Given the description of an element on the screen output the (x, y) to click on. 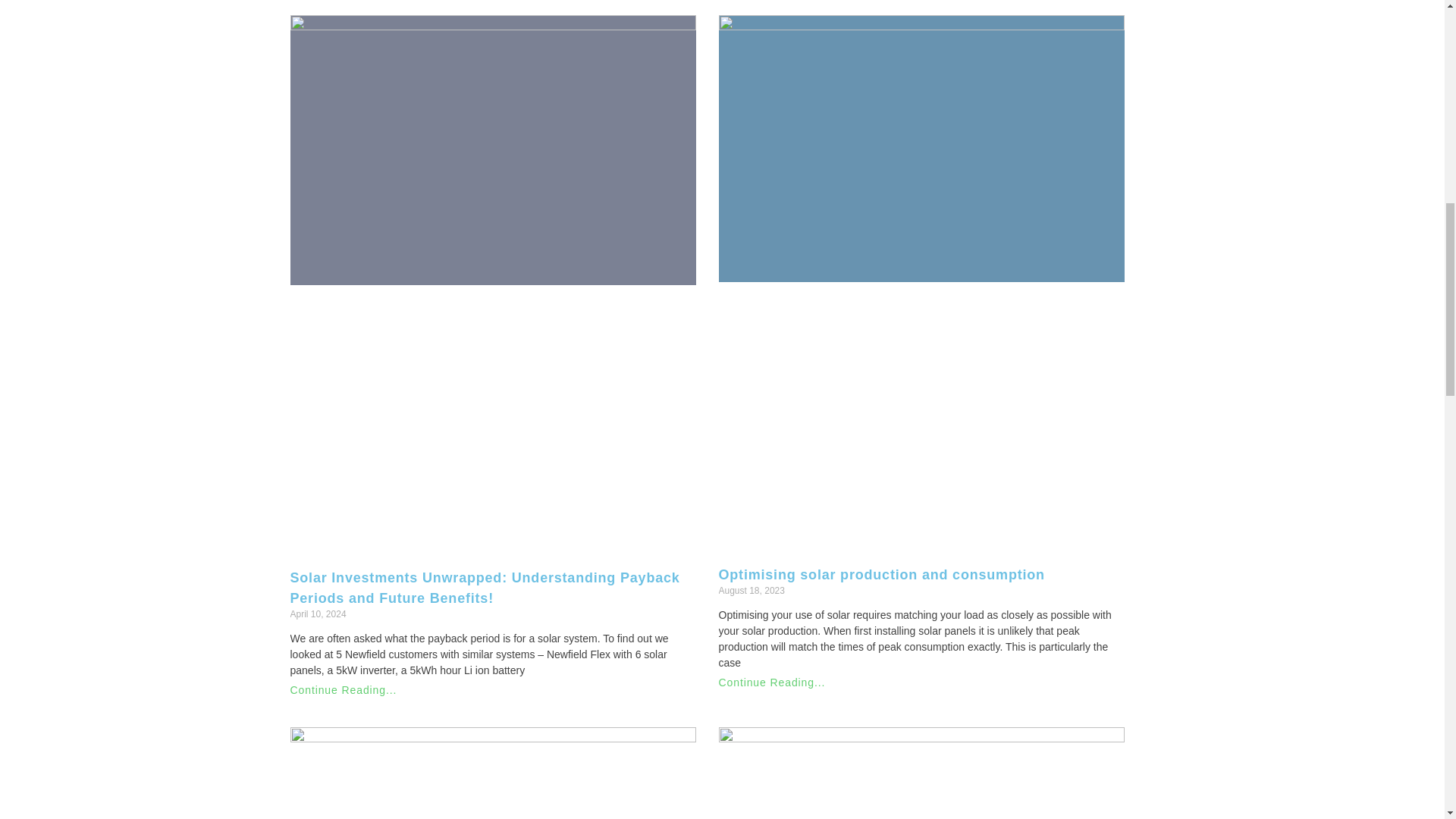
Continue Reading... (772, 682)
Continue Reading... (342, 689)
Optimising solar production and consumption (882, 574)
